Given the description of an element on the screen output the (x, y) to click on. 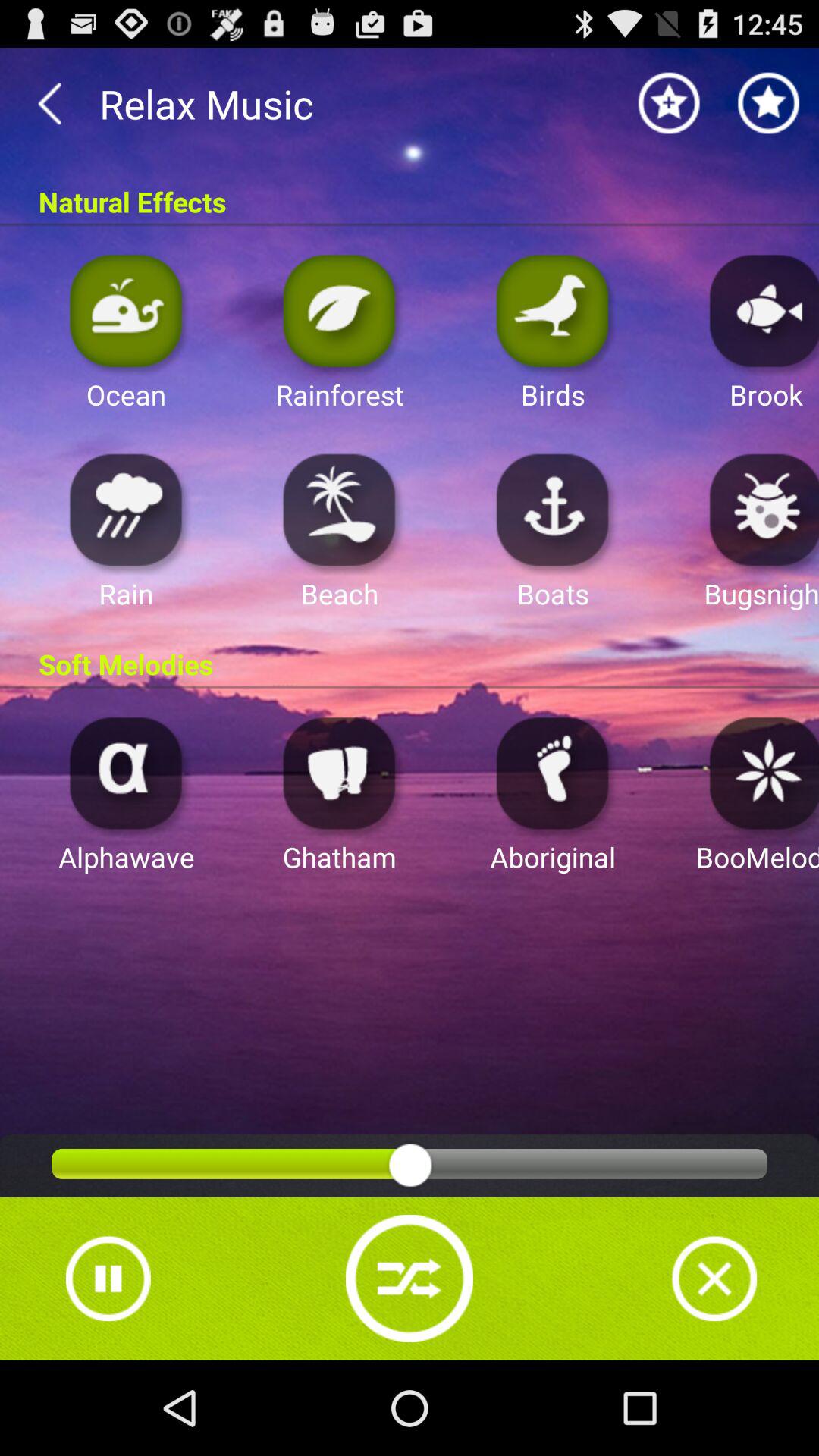
pass (107, 1278)
